Given the description of an element on the screen output the (x, y) to click on. 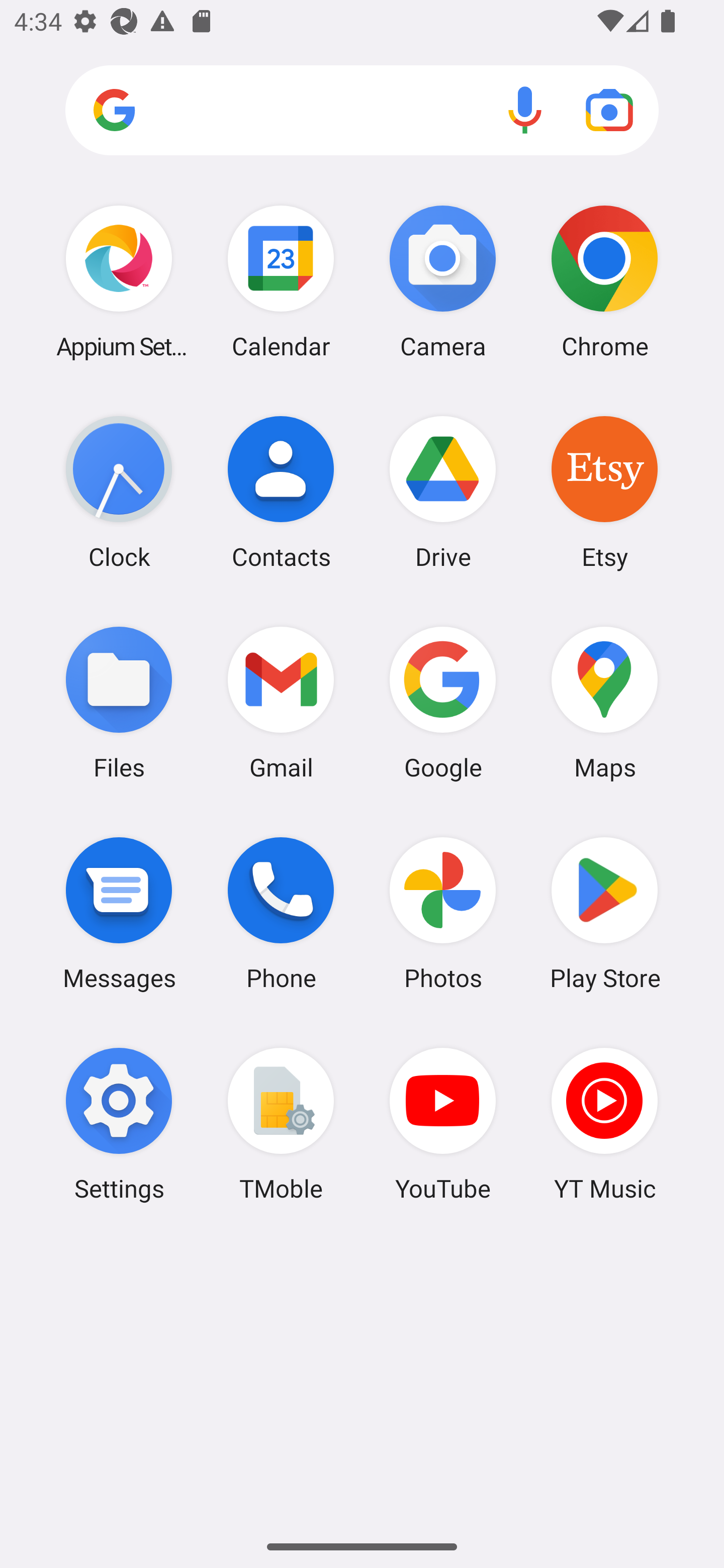
Search apps, web and more (361, 110)
Voice search (524, 109)
Google Lens (608, 109)
Appium Settings (118, 281)
Calendar (280, 281)
Camera (443, 281)
Chrome (604, 281)
Clock (118, 492)
Contacts (280, 492)
Drive (443, 492)
Etsy (604, 492)
Files (118, 702)
Gmail (280, 702)
Google (443, 702)
Maps (604, 702)
Messages (118, 913)
Phone (280, 913)
Photos (443, 913)
Play Store (604, 913)
Settings (118, 1124)
TMoble (280, 1124)
YouTube (443, 1124)
YT Music (604, 1124)
